Given the description of an element on the screen output the (x, y) to click on. 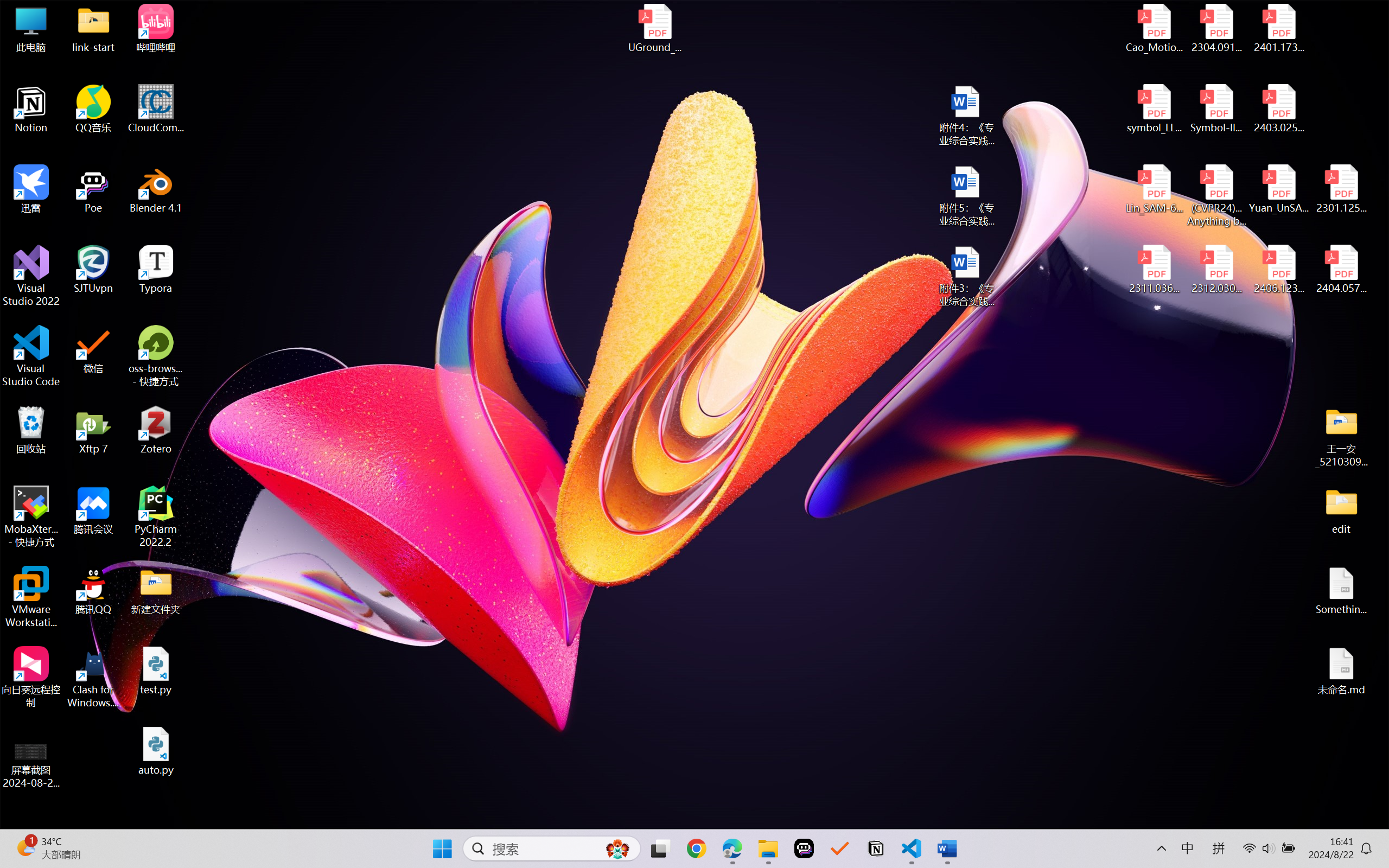
2311.03658v2.pdf (1154, 269)
2403.02502v1.pdf (1278, 109)
VMware Workstation Pro (31, 597)
